Given the description of an element on the screen output the (x, y) to click on. 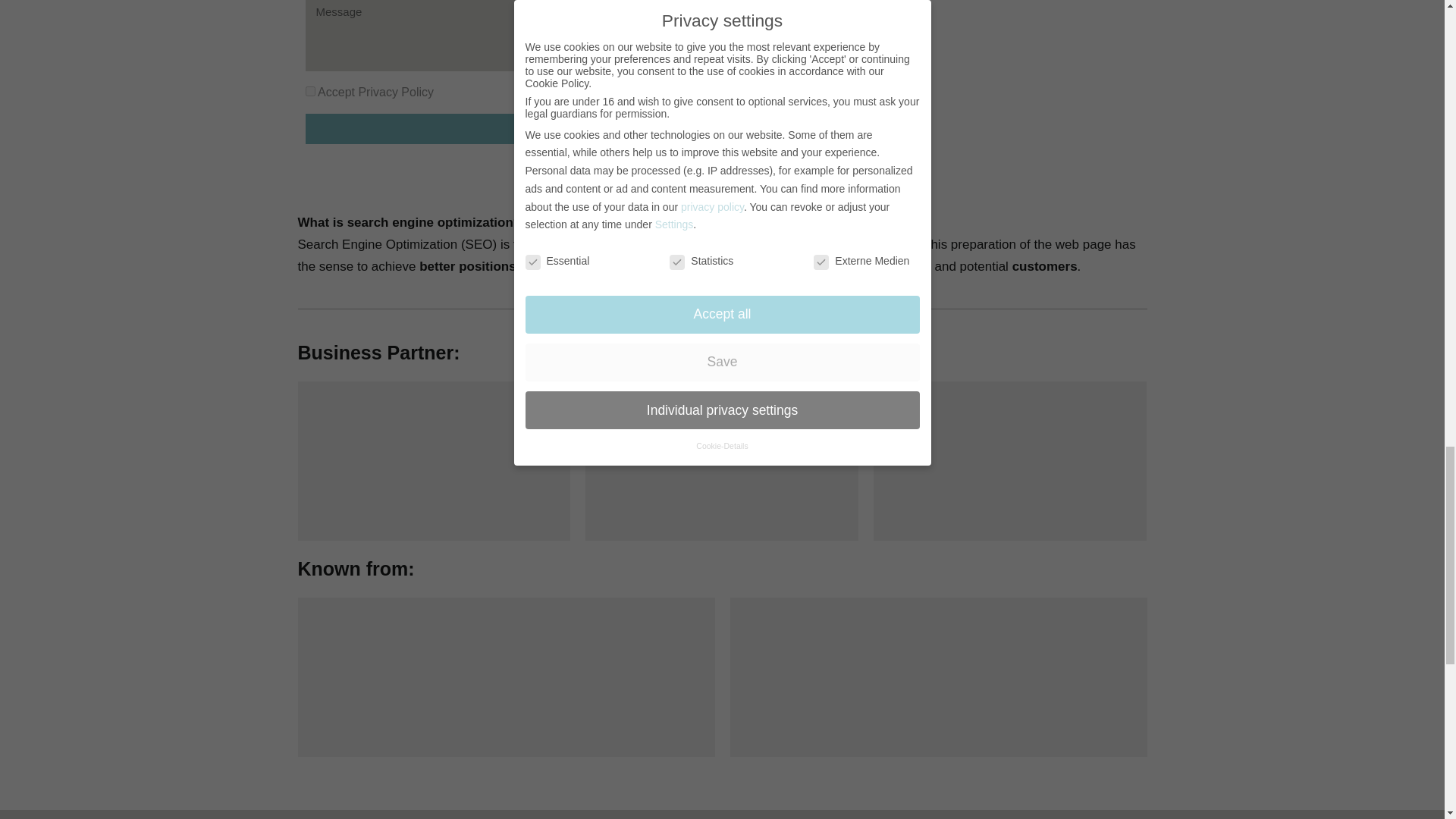
on (309, 91)
